Given the description of an element on the screen output the (x, y) to click on. 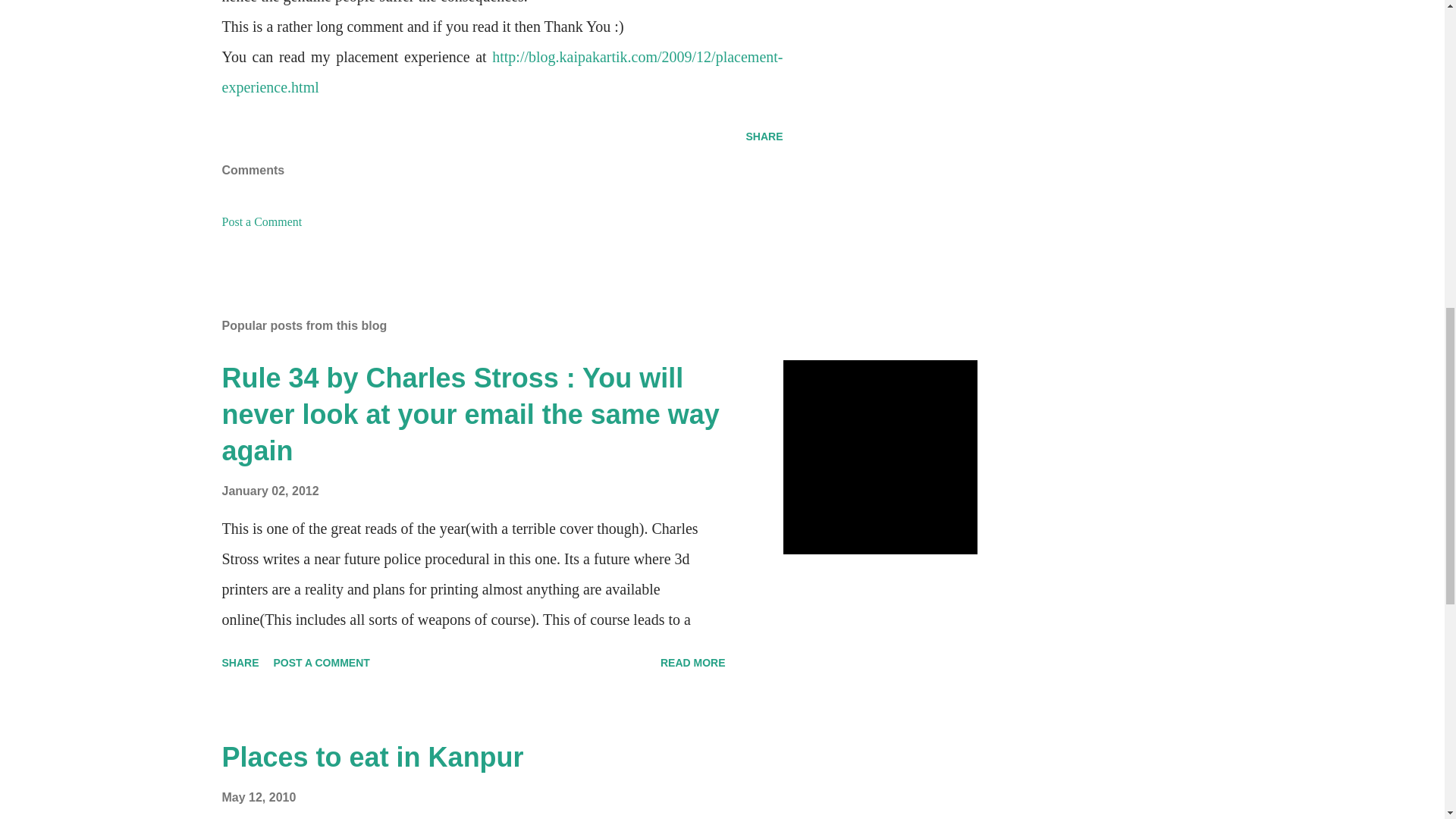
SHARE (239, 662)
READ MORE (692, 662)
Places to eat in Kanpur (371, 757)
POST A COMMENT (321, 662)
Post a Comment (261, 221)
permanent link (269, 490)
January 02, 2012 (269, 490)
SHARE (764, 136)
May 12, 2010 (258, 797)
